Given the description of an element on the screen output the (x, y) to click on. 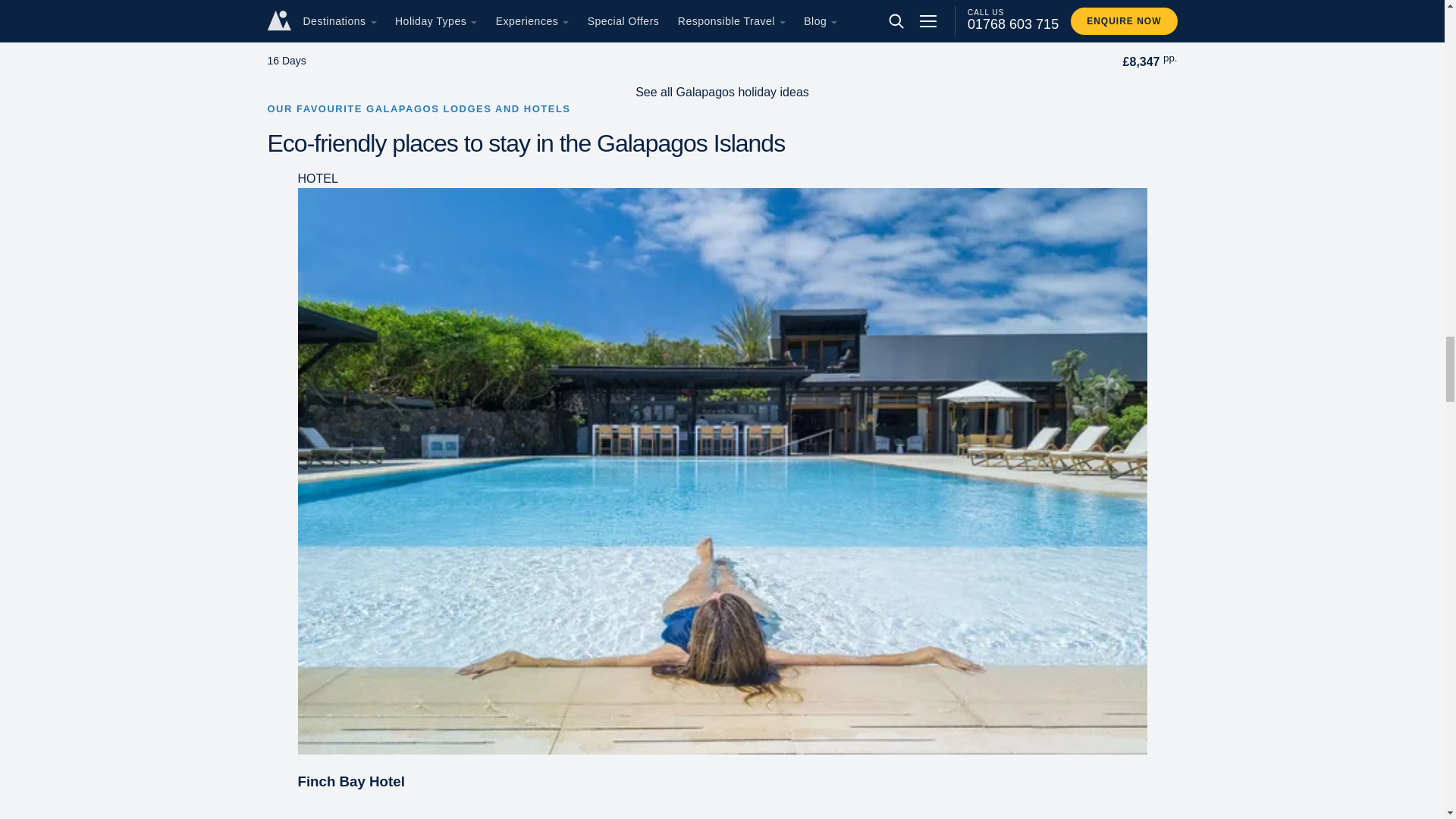
Galapagos Holidays, South America Holidays (722, 812)
